Given the description of an element on the screen output the (x, y) to click on. 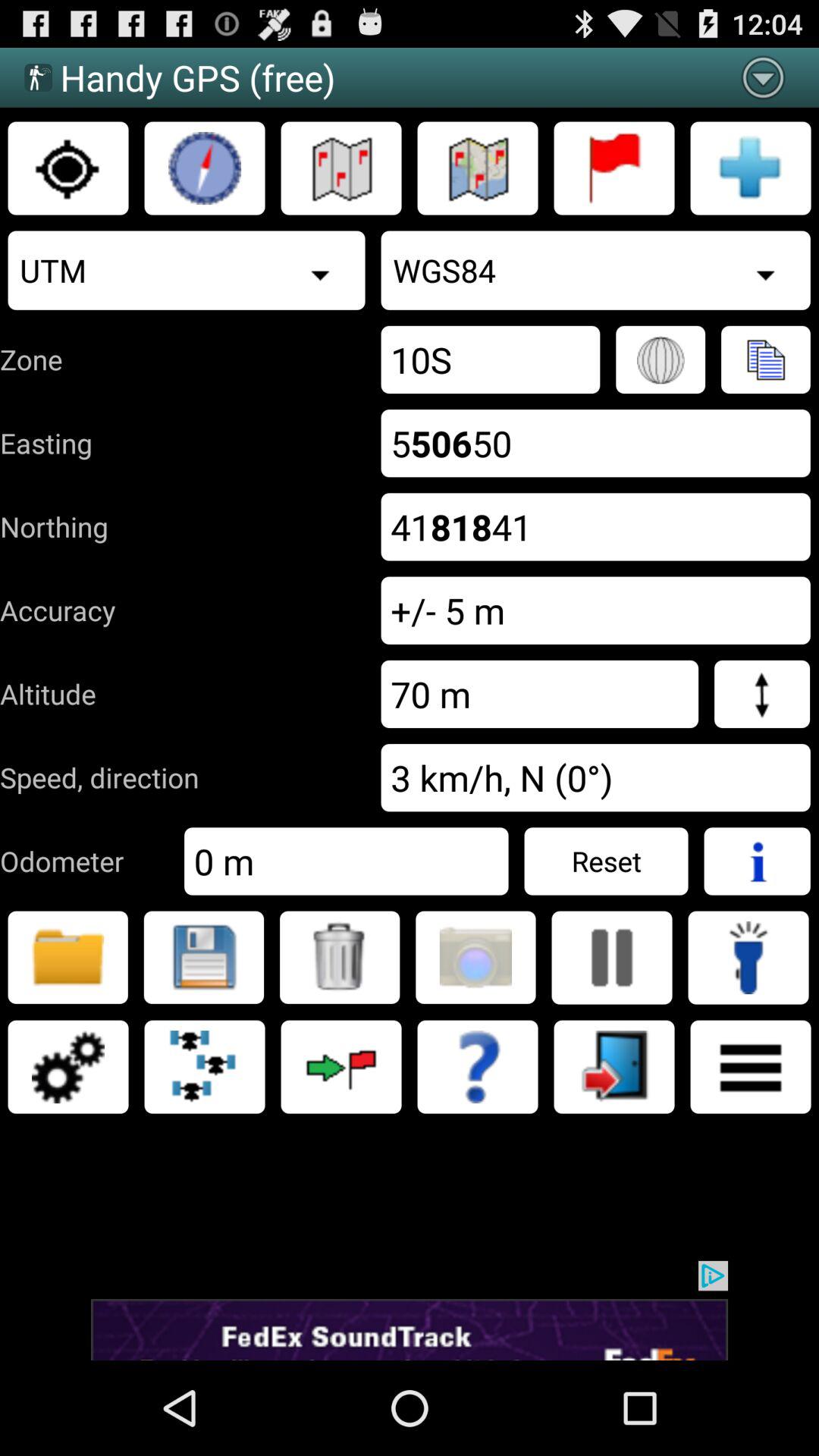
show map (477, 167)
